Given the description of an element on the screen output the (x, y) to click on. 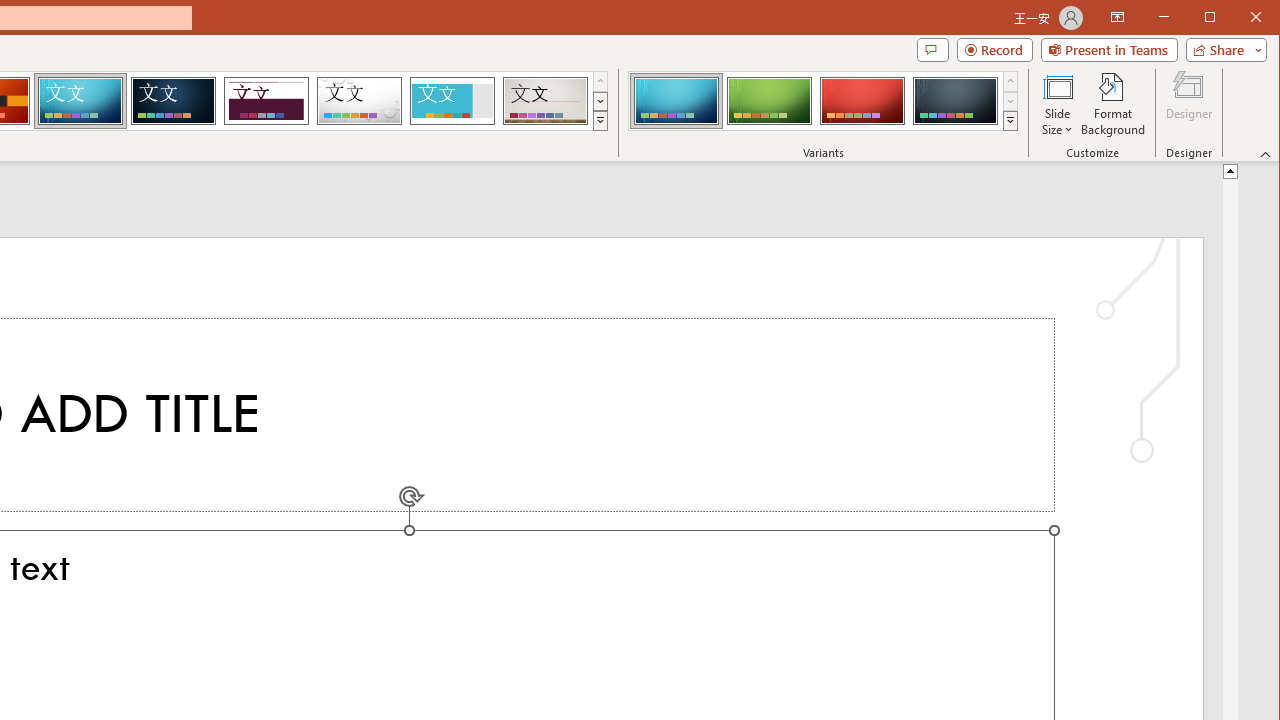
Circuit Variant 4 (955, 100)
